Given the description of an element on the screen output the (x, y) to click on. 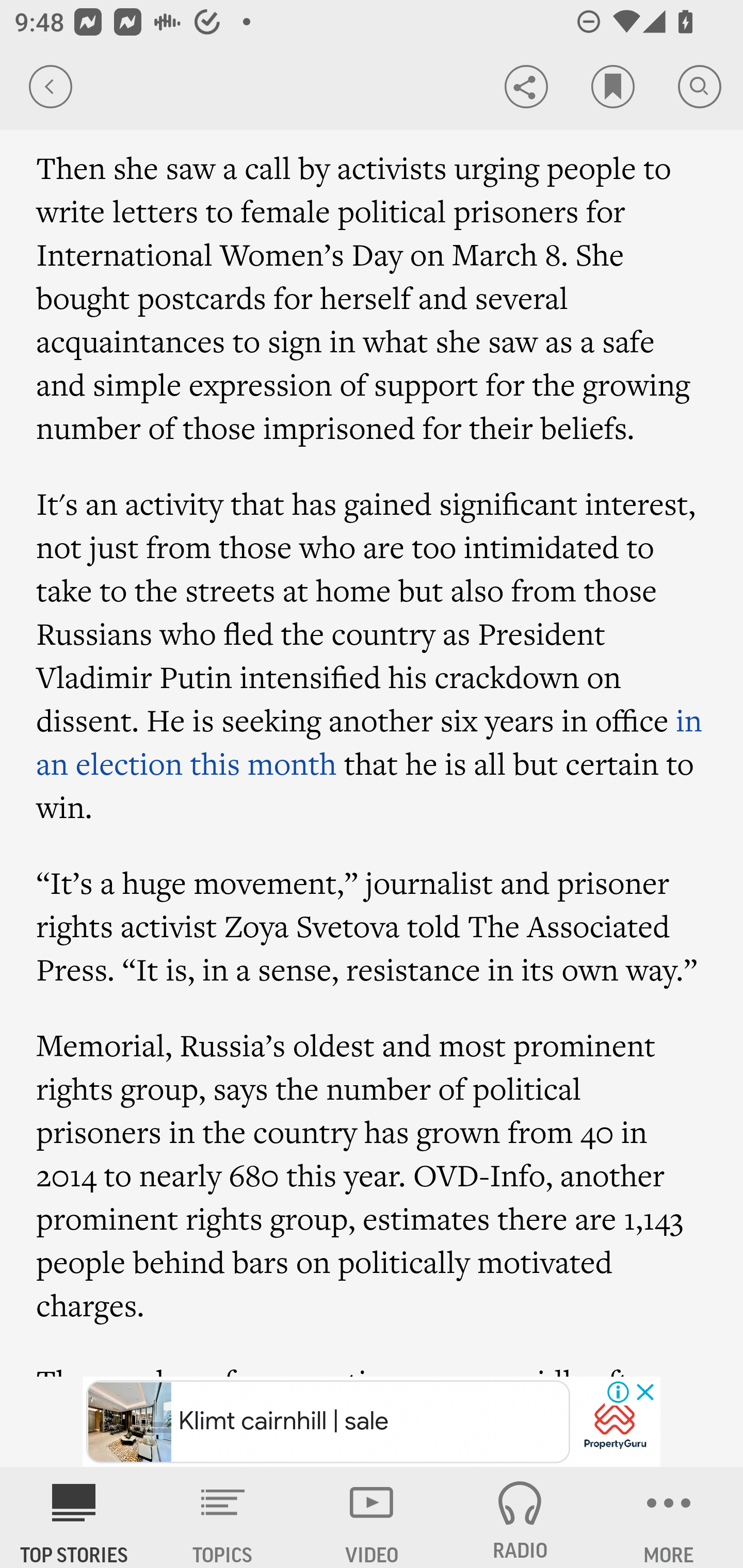
in an election this month (369, 742)
Klimt cairnhill | sale (327, 1421)
for-sale-klimt-cairnhill (615, 1422)
AP News TOP STORIES (74, 1517)
TOPICS (222, 1517)
VIDEO (371, 1517)
RADIO (519, 1517)
MORE (668, 1517)
